Given the description of an element on the screen output the (x, y) to click on. 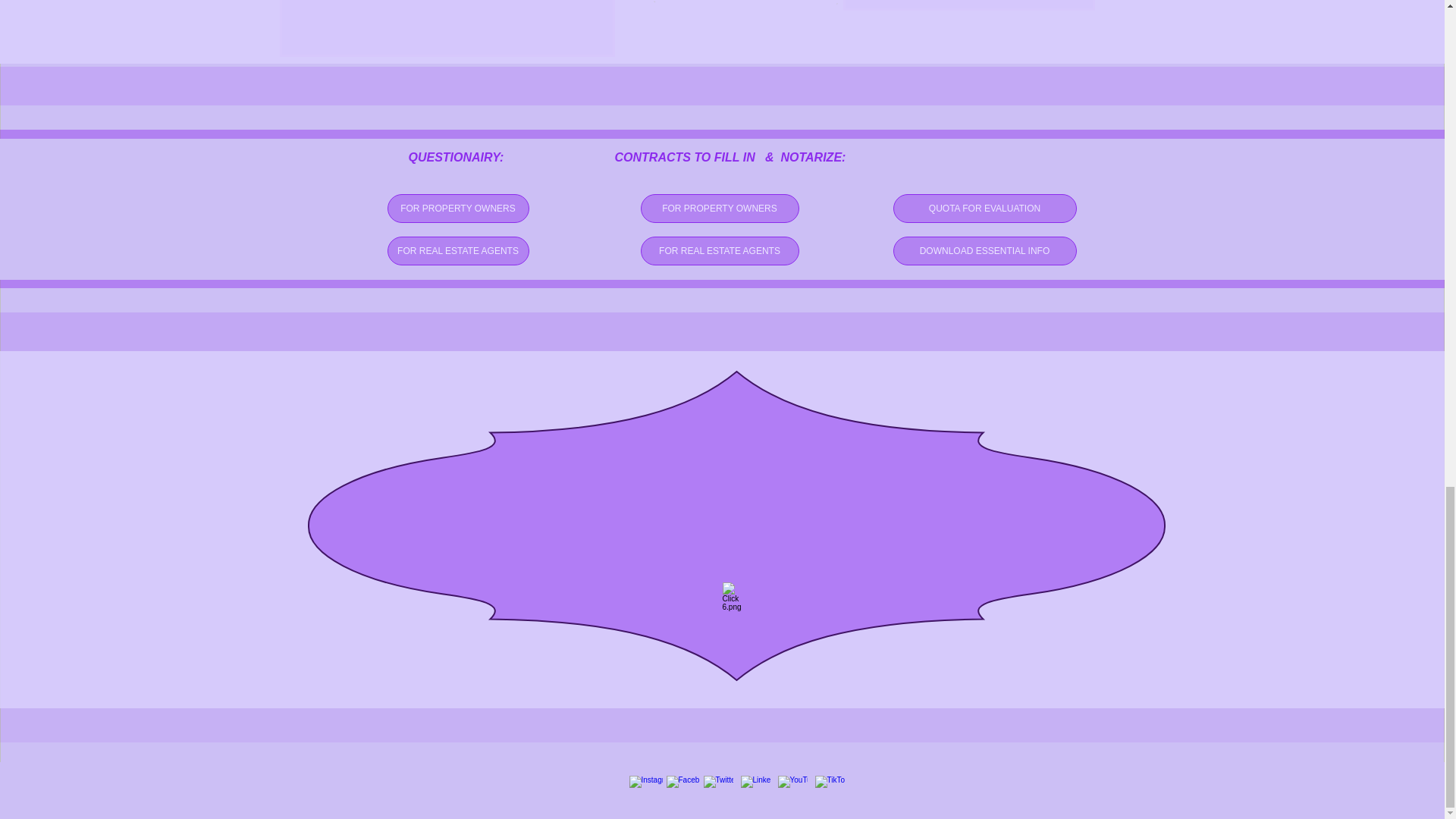
FOR PROPERTY OWNERS (457, 208)
QUOTA FOR EVALUATION (985, 208)
FOR PROPERTY OWNERS (718, 208)
DOWNLOAD ESSENTIAL INFO (985, 250)
